Given the description of an element on the screen output the (x, y) to click on. 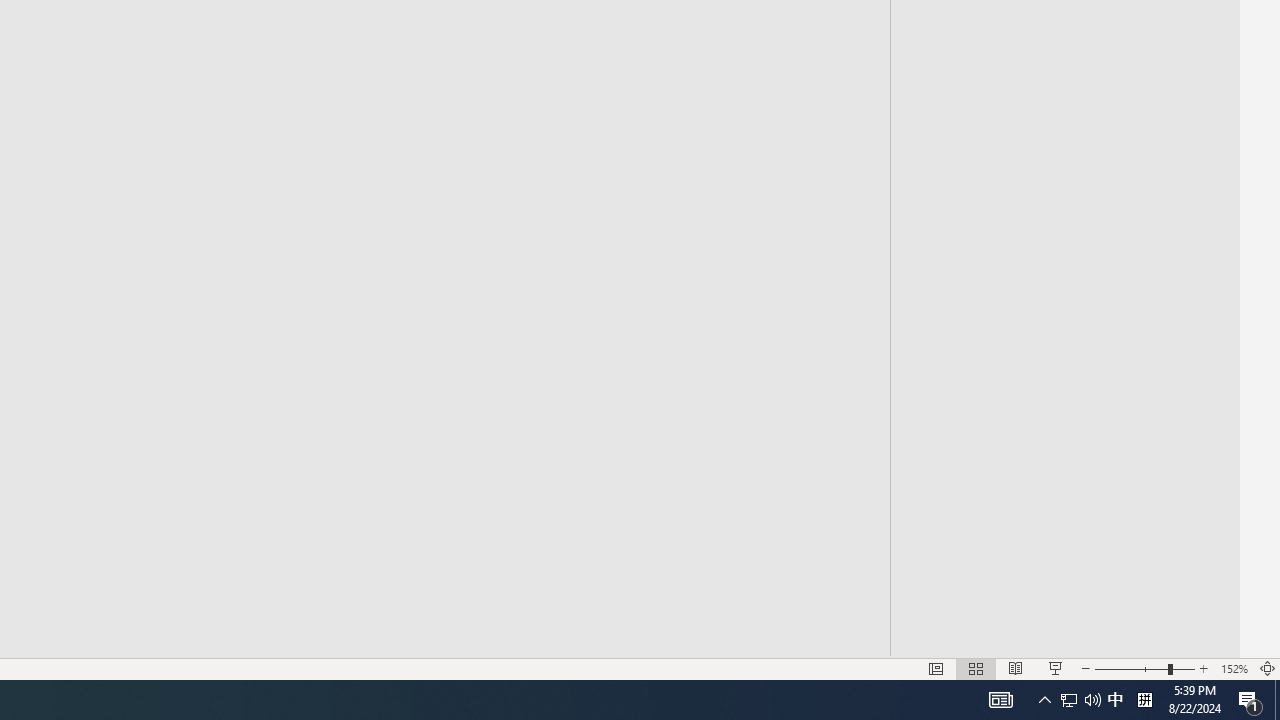
Zoom 152% (1234, 668)
